Given the description of an element on the screen output the (x, y) to click on. 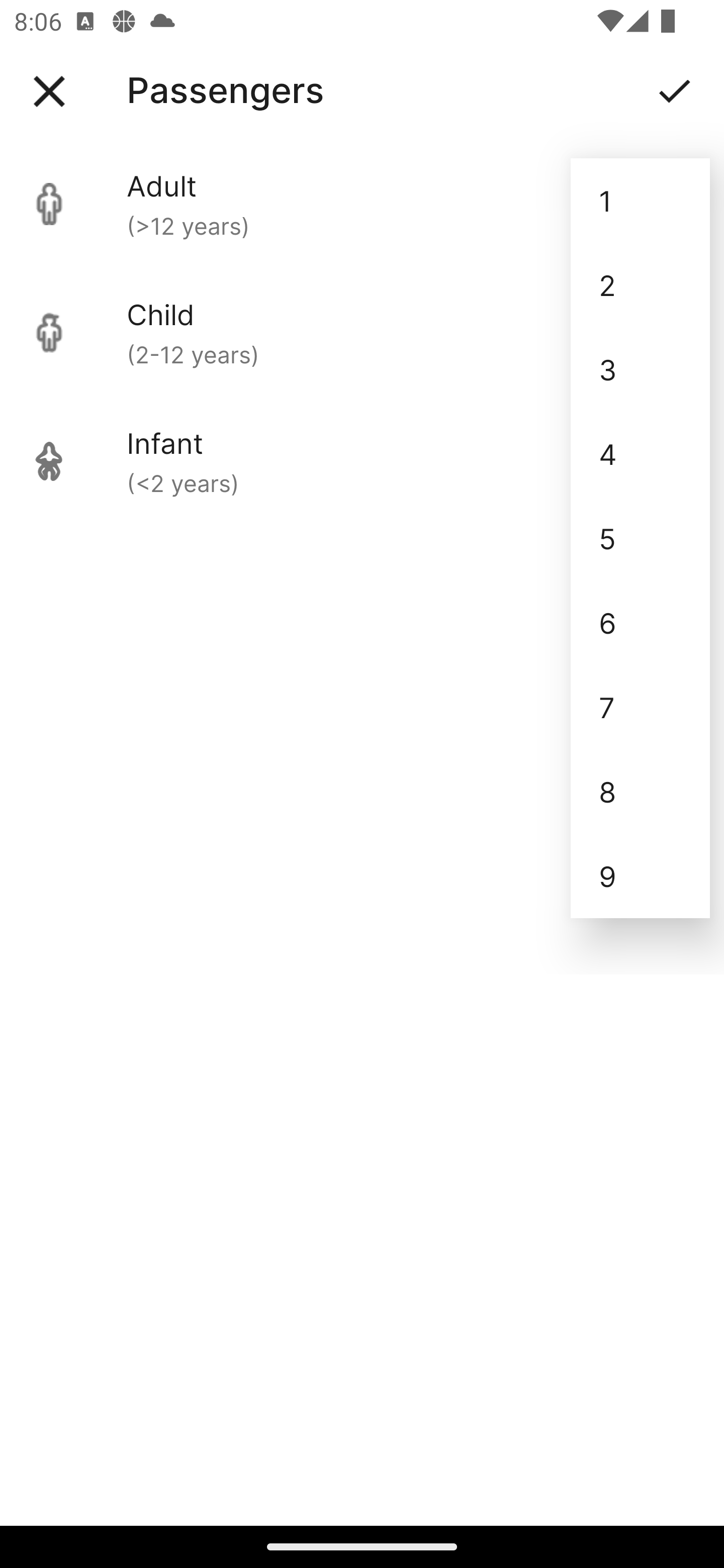
1 (640, 200)
2 (640, 285)
3 (640, 368)
4 (640, 452)
5 (640, 537)
6 (640, 622)
7 (640, 706)
8 (640, 791)
9 (640, 876)
